Given the description of an element on the screen output the (x, y) to click on. 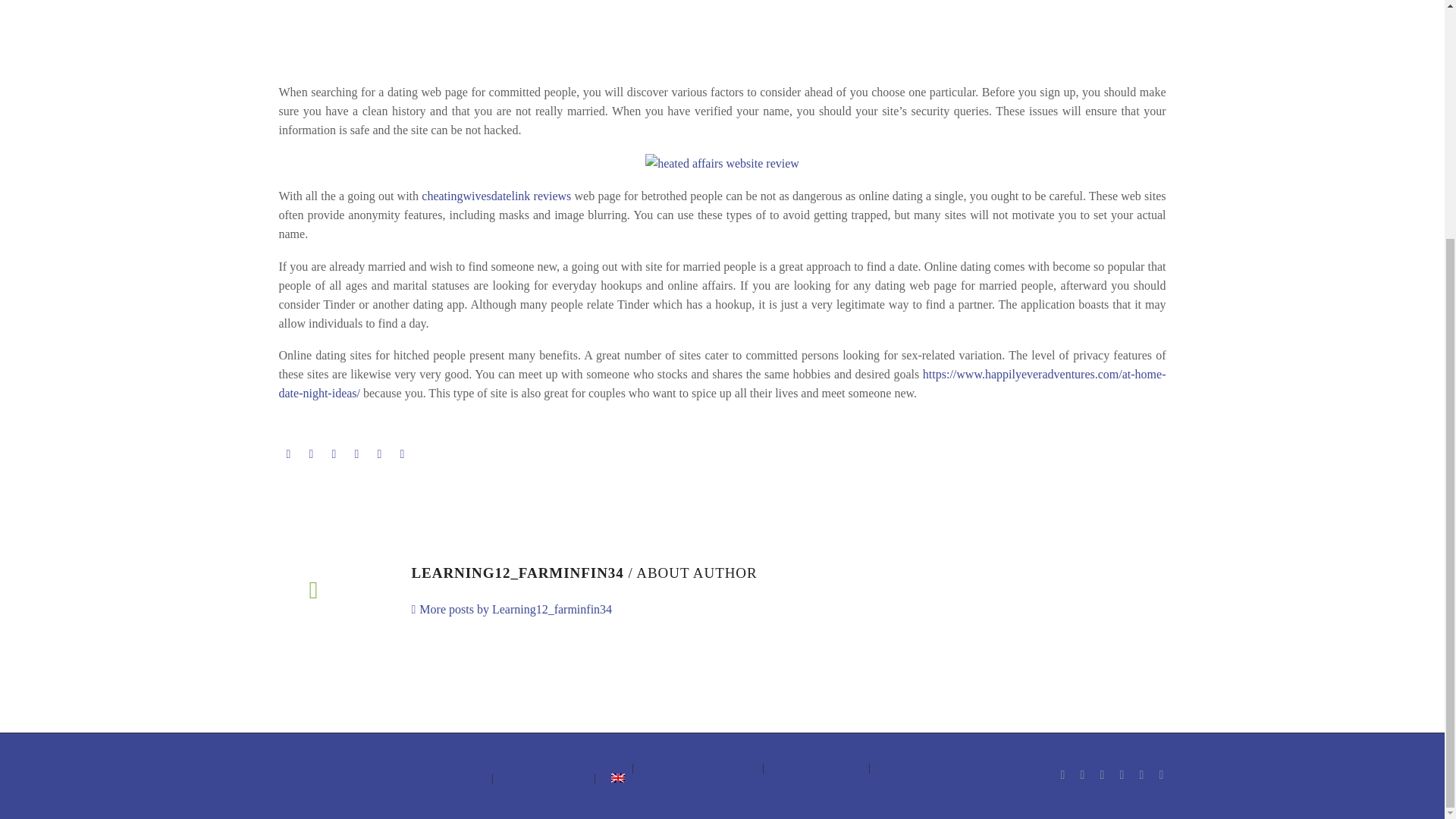
Pinterest (333, 453)
Reddit (401, 453)
Tumblr (356, 453)
LinkedIn (378, 453)
Twitter (310, 453)
Facebook (288, 453)
cheatingwivesdatelink reviews (496, 195)
